Given the description of an element on the screen output the (x, y) to click on. 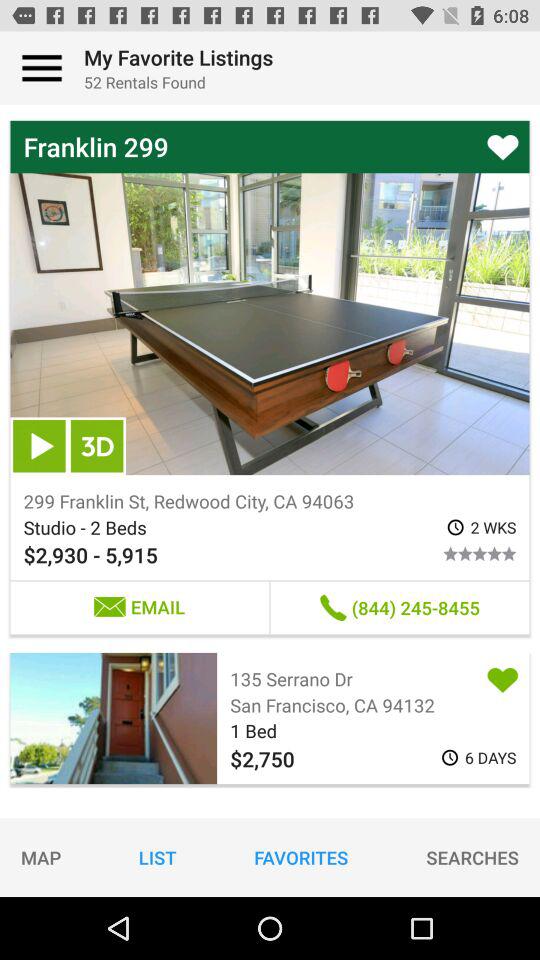
flip to map icon (41, 857)
